Given the description of an element on the screen output the (x, y) to click on. 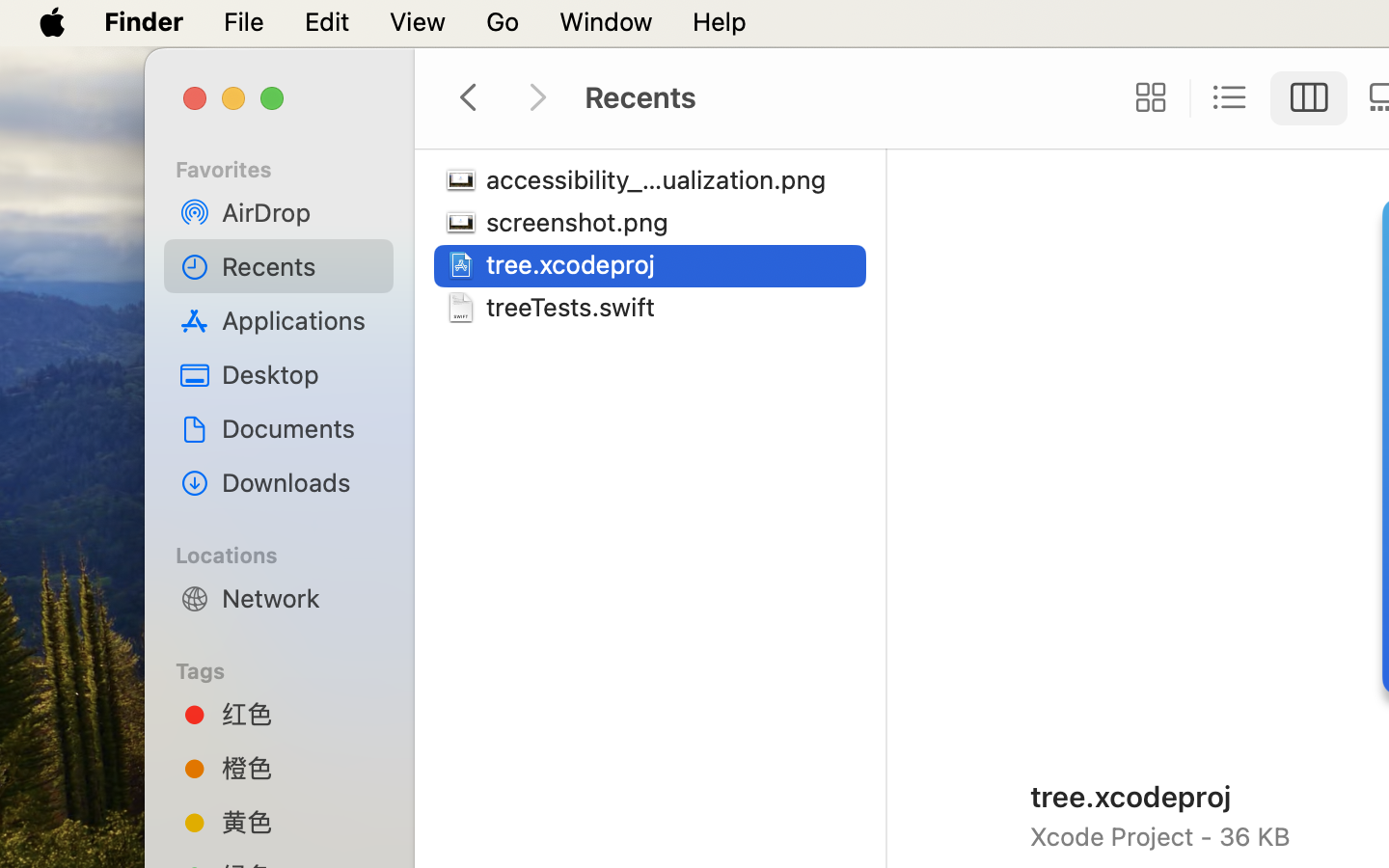
Tags Element type: AXStaticText (289, 668)
Desktop Element type: AXStaticText (299, 373)
Downloads Element type: AXStaticText (299, 481)
黄色 Element type: AXStaticText (299, 821)
橙色 Element type: AXStaticText (299, 767)
